Given the description of an element on the screen output the (x, y) to click on. 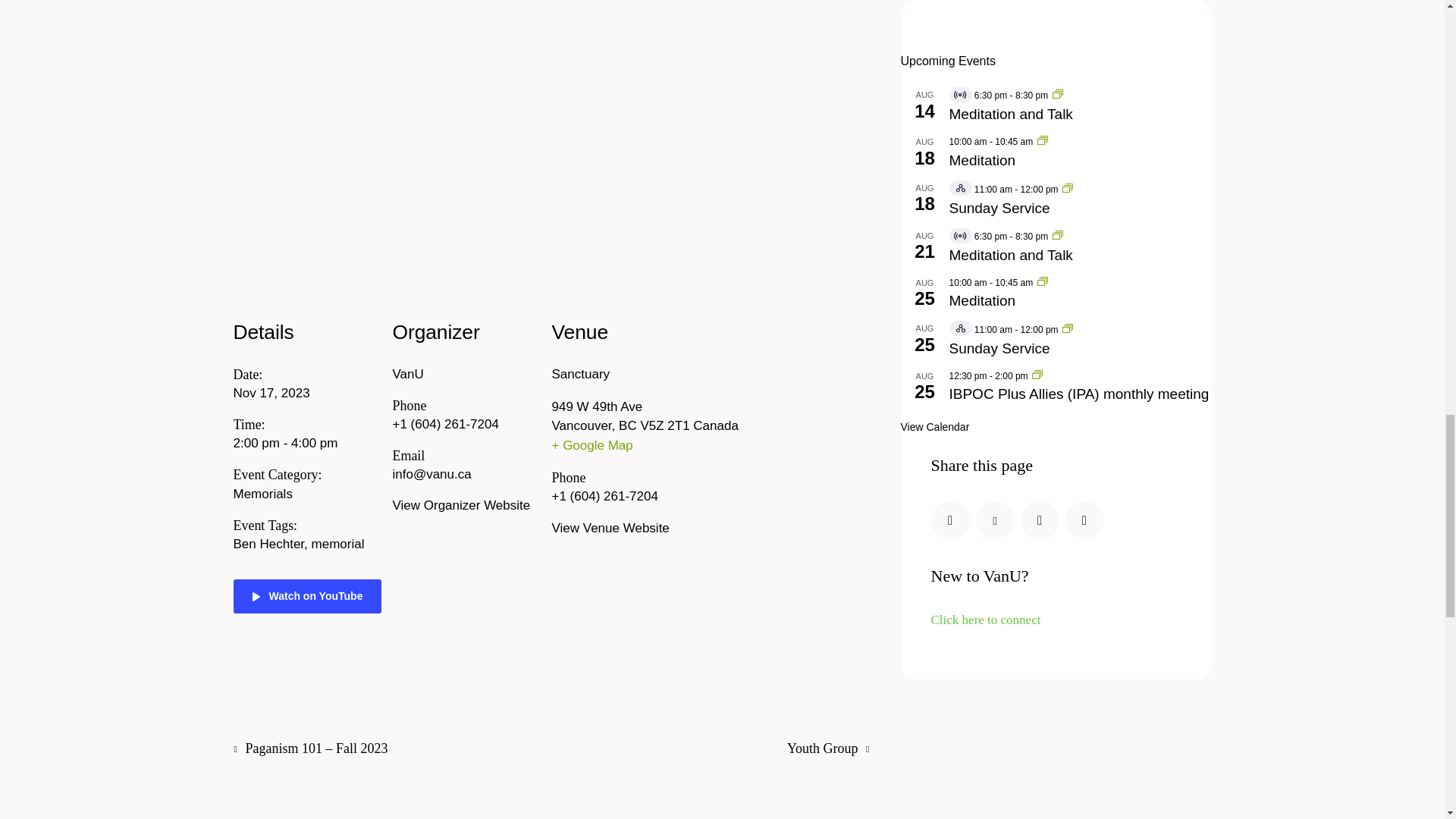
2023-11-17 (303, 443)
VanU (408, 373)
Click to view a Google Map (701, 445)
2023-11-17 (271, 392)
BC (627, 425)
